Given the description of an element on the screen output the (x, y) to click on. 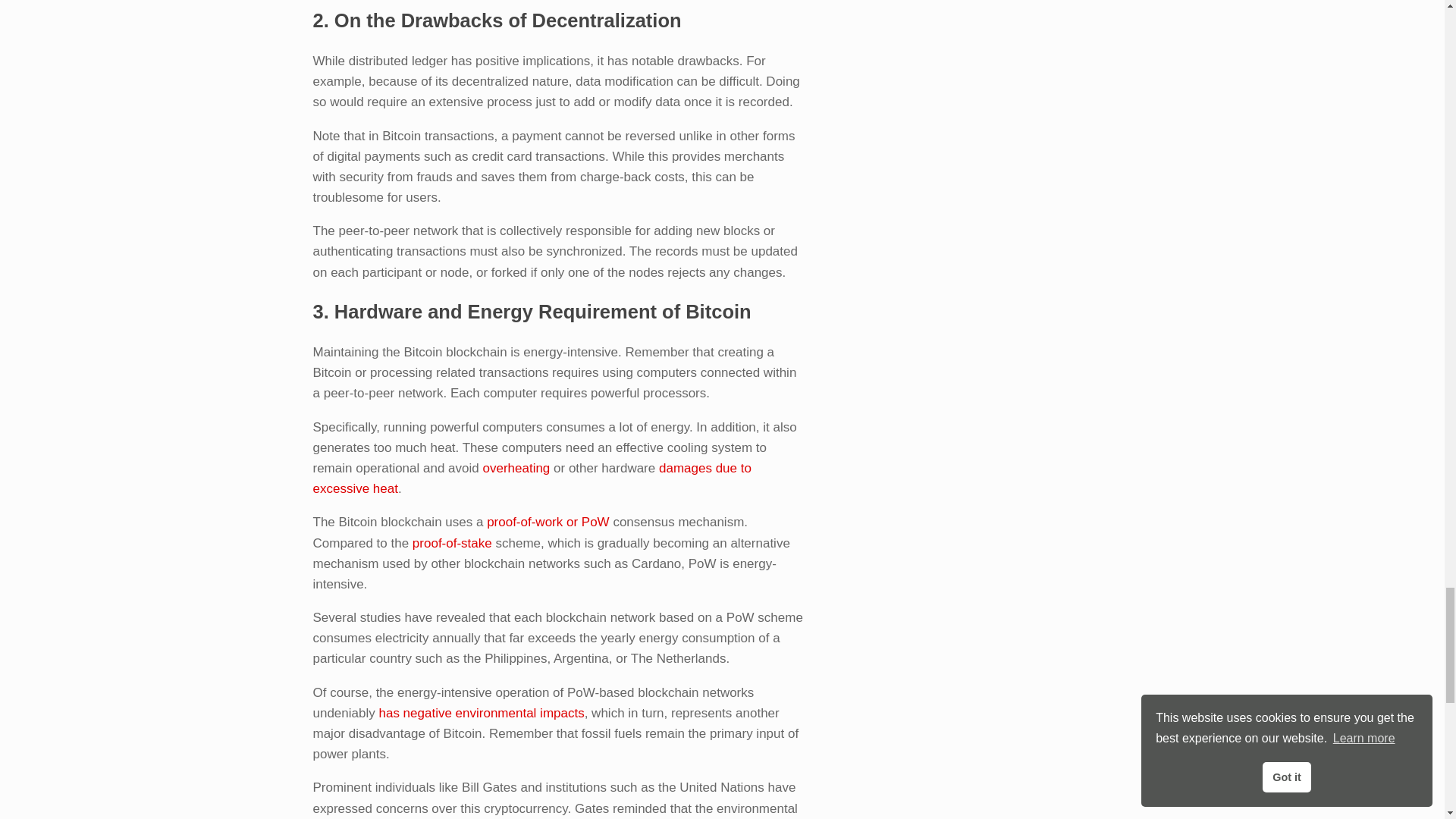
proof-of-stake (452, 542)
proof-of-work or PoW (548, 522)
damages due to excessive heat (532, 478)
overheating (515, 468)
